Given the description of an element on the screen output the (x, y) to click on. 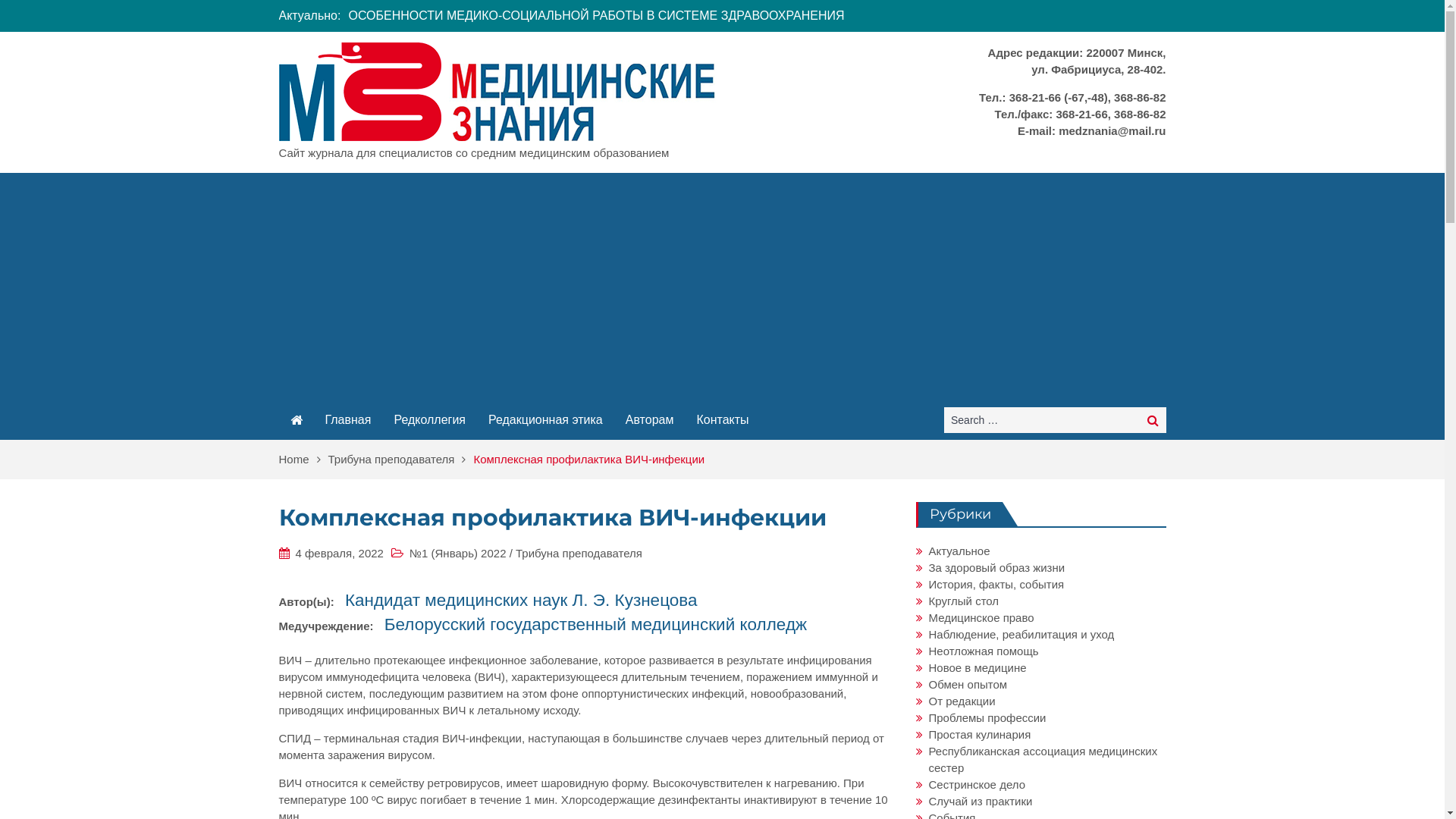
Search Element type: text (1153, 420)
Home Element type: text (303, 458)
Advertisement Element type: hover (721, 286)
